Given the description of an element on the screen output the (x, y) to click on. 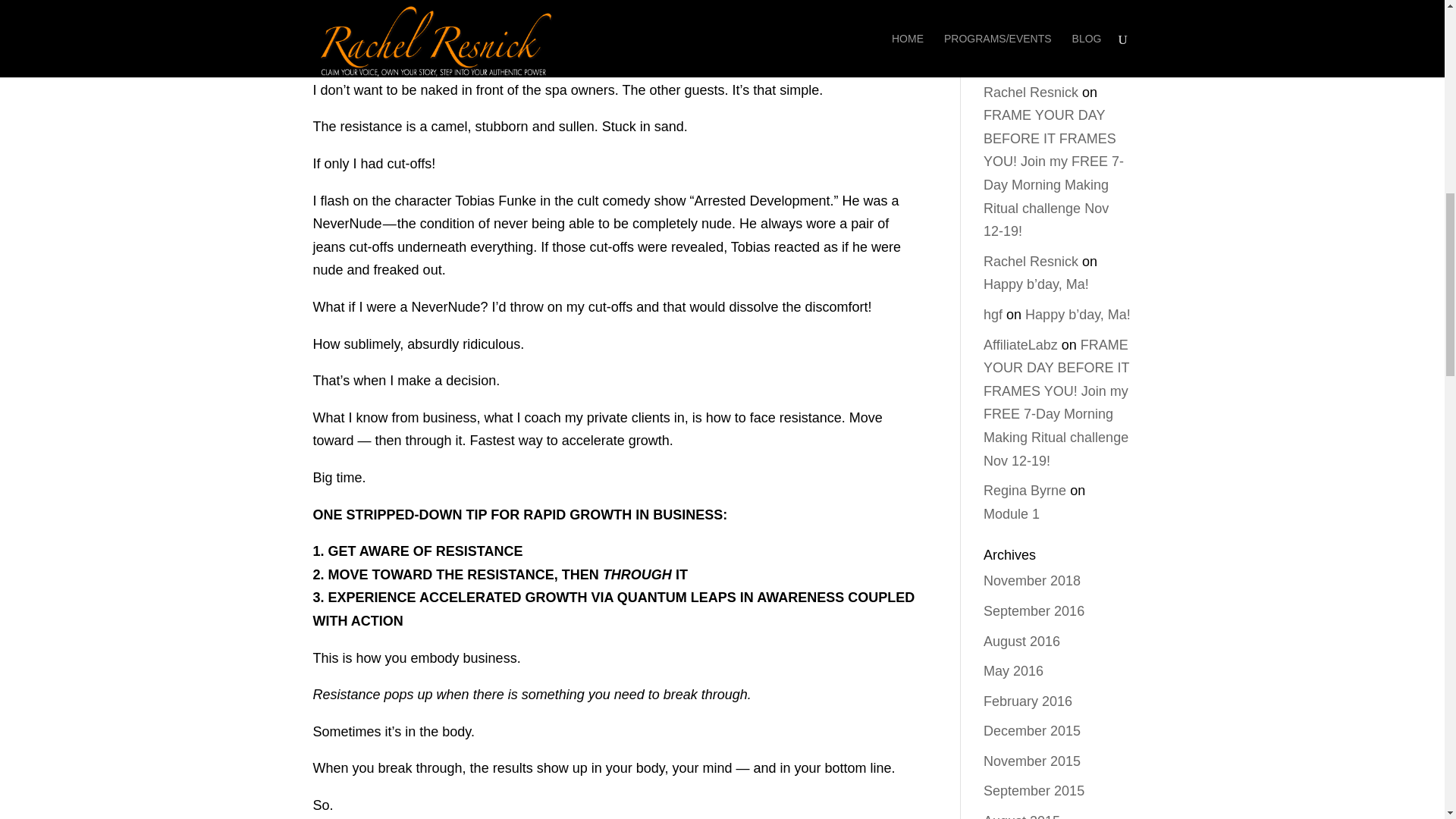
AffiliateLabz (1021, 344)
Regina Byrne (1024, 490)
September 2015 (1034, 790)
Module 1 (1011, 513)
December 2015 (1032, 730)
September 2016 (1034, 611)
August 2016 (1021, 641)
hgf (993, 314)
